Given the description of an element on the screen output the (x, y) to click on. 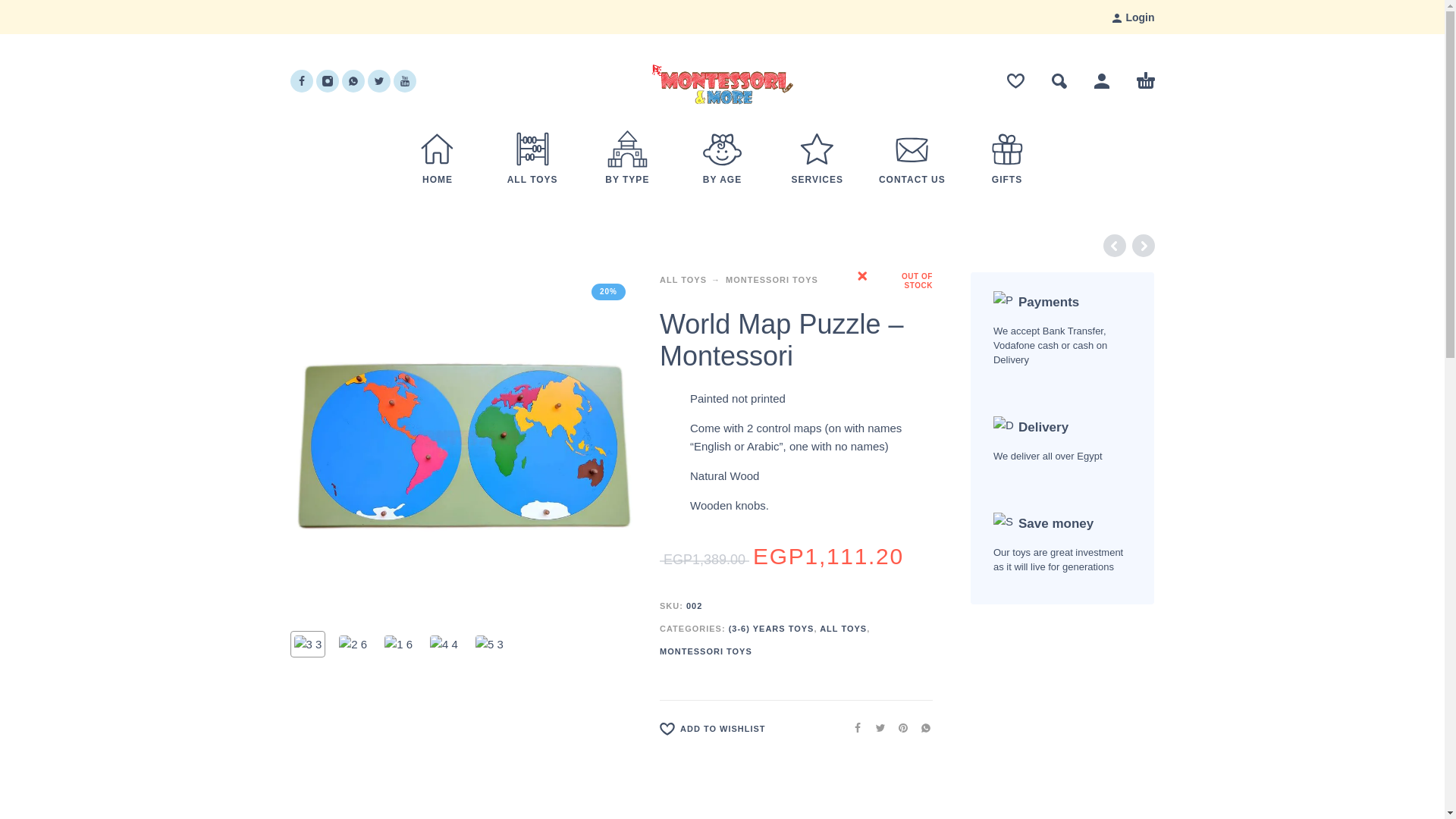
Pin on Pinterest (898, 727)
World Map Puzzle - Montessori 4 (443, 644)
Login (1133, 16)
Share on Twitter (875, 727)
World Map Puzzle - Montessori 6 (463, 445)
World Map Puzzle - Montessori 1 (307, 644)
World Map Puzzle - Montessori 5 (489, 644)
Share on Whatsapp (921, 727)
World Map Puzzle - Montessori 2 (352, 644)
BY TYPE (627, 178)
